Given the description of an element on the screen output the (x, y) to click on. 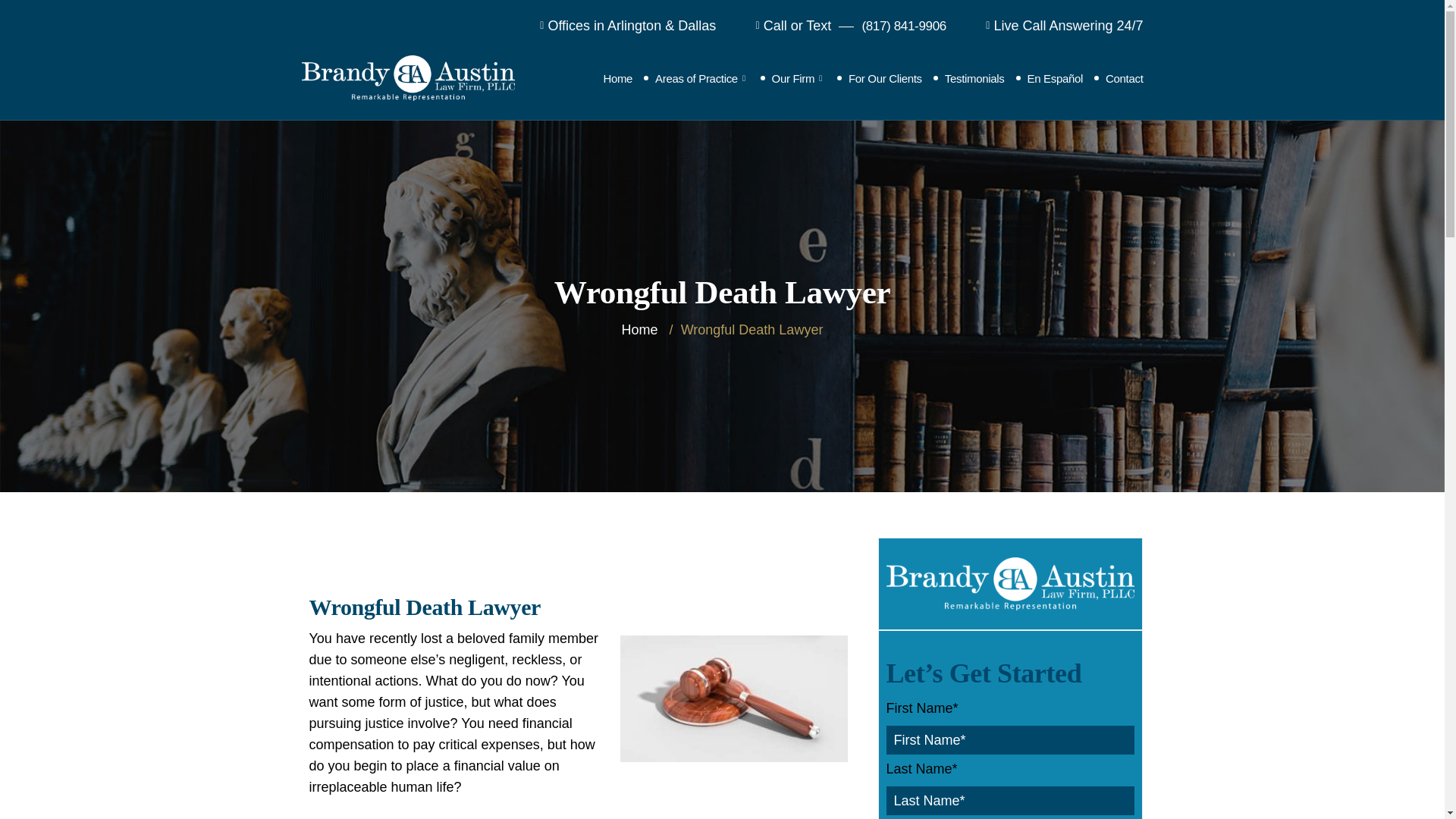
Areas of Practice (701, 77)
